Given the description of an element on the screen output the (x, y) to click on. 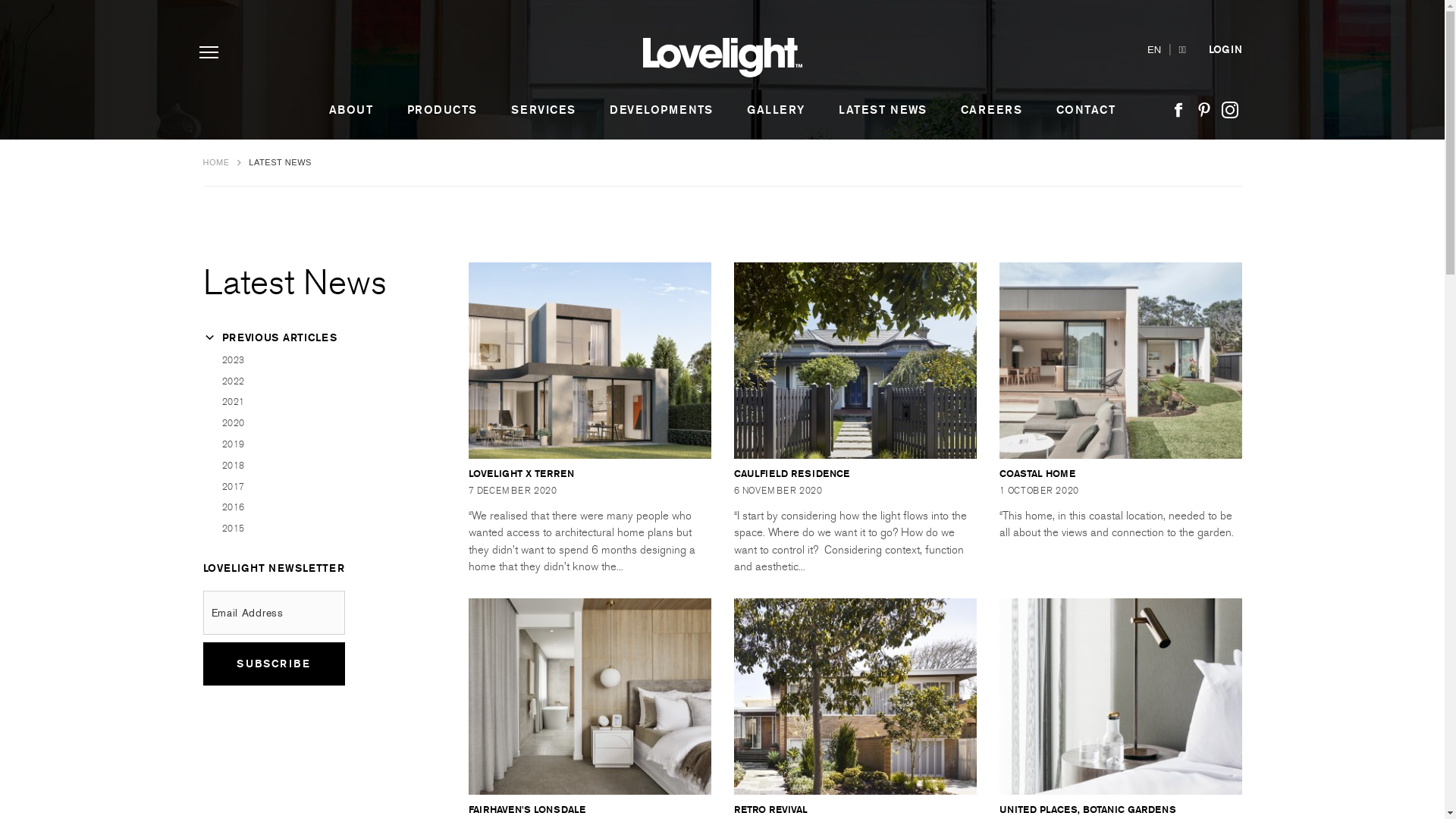
DEVELOPMENTS Element type: text (661, 110)
ABOUT Element type: text (351, 110)
Custom Window Furnishings For Beautiful Spaces Element type: hover (722, 57)
EN Element type: text (1154, 49)
2021 Element type: text (318, 402)
Instagram Element type: hover (1229, 110)
LOGIN Element type: text (1225, 49)
2016 Element type: text (318, 507)
2022 Element type: text (318, 381)
2023 Element type: text (318, 360)
CONTACT Element type: text (1085, 110)
CAREERS Element type: text (991, 110)
2018 Element type: text (318, 465)
SUBSCRIBE Element type: text (274, 664)
LATEST NEWS Element type: text (882, 110)
HOME Element type: text (217, 161)
2017 Element type: text (318, 486)
SERVICES Element type: text (543, 110)
Pinterest Element type: hover (1203, 110)
2020 Element type: text (318, 423)
2015 Element type: text (318, 528)
GALLERY Element type: text (775, 110)
Toggle Menu Element type: hover (208, 53)
Facebook Element type: hover (1178, 110)
2019 Element type: text (318, 444)
PRODUCTS Element type: text (442, 110)
